Given the description of an element on the screen output the (x, y) to click on. 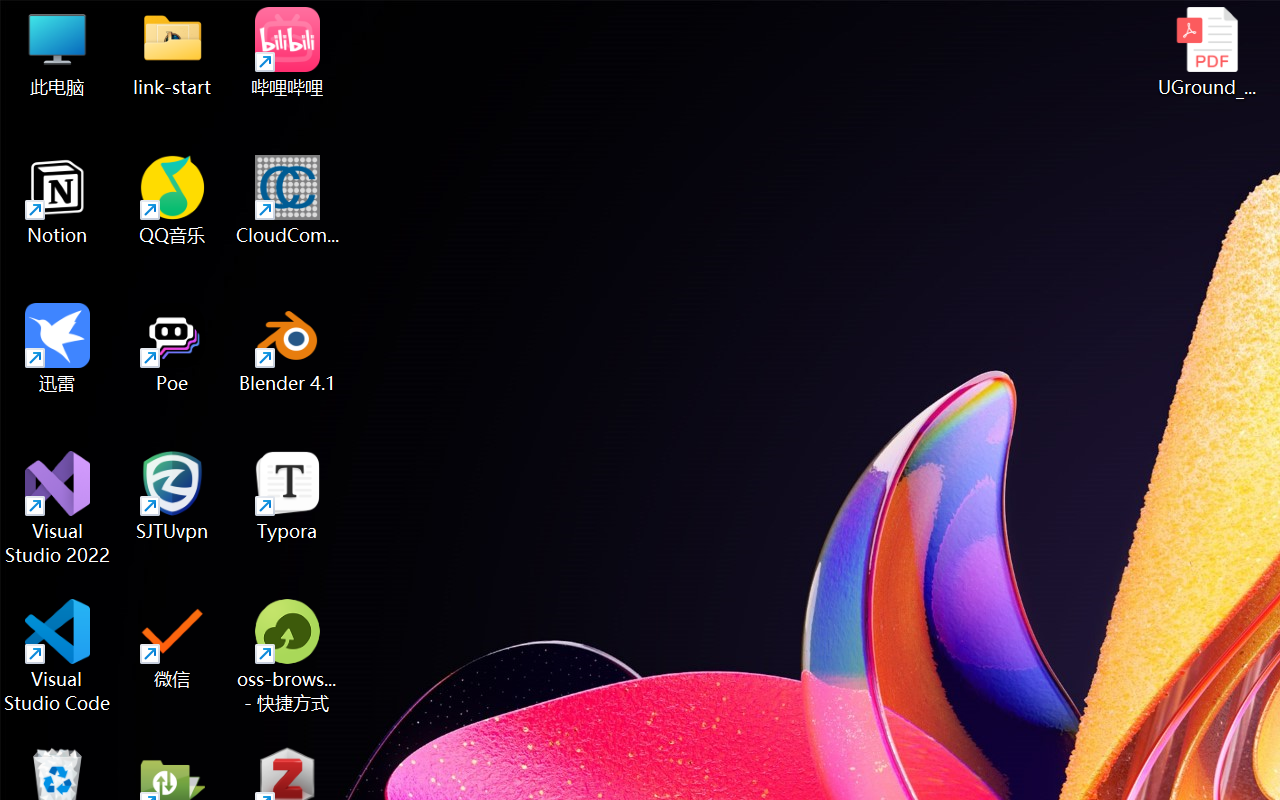
Visual Studio Code (57, 656)
CloudCompare (287, 200)
SJTUvpn (172, 496)
Blender 4.1 (287, 348)
Typora (287, 496)
Visual Studio 2022 (57, 508)
UGround_paper.pdf (1206, 52)
